Given the description of an element on the screen output the (x, y) to click on. 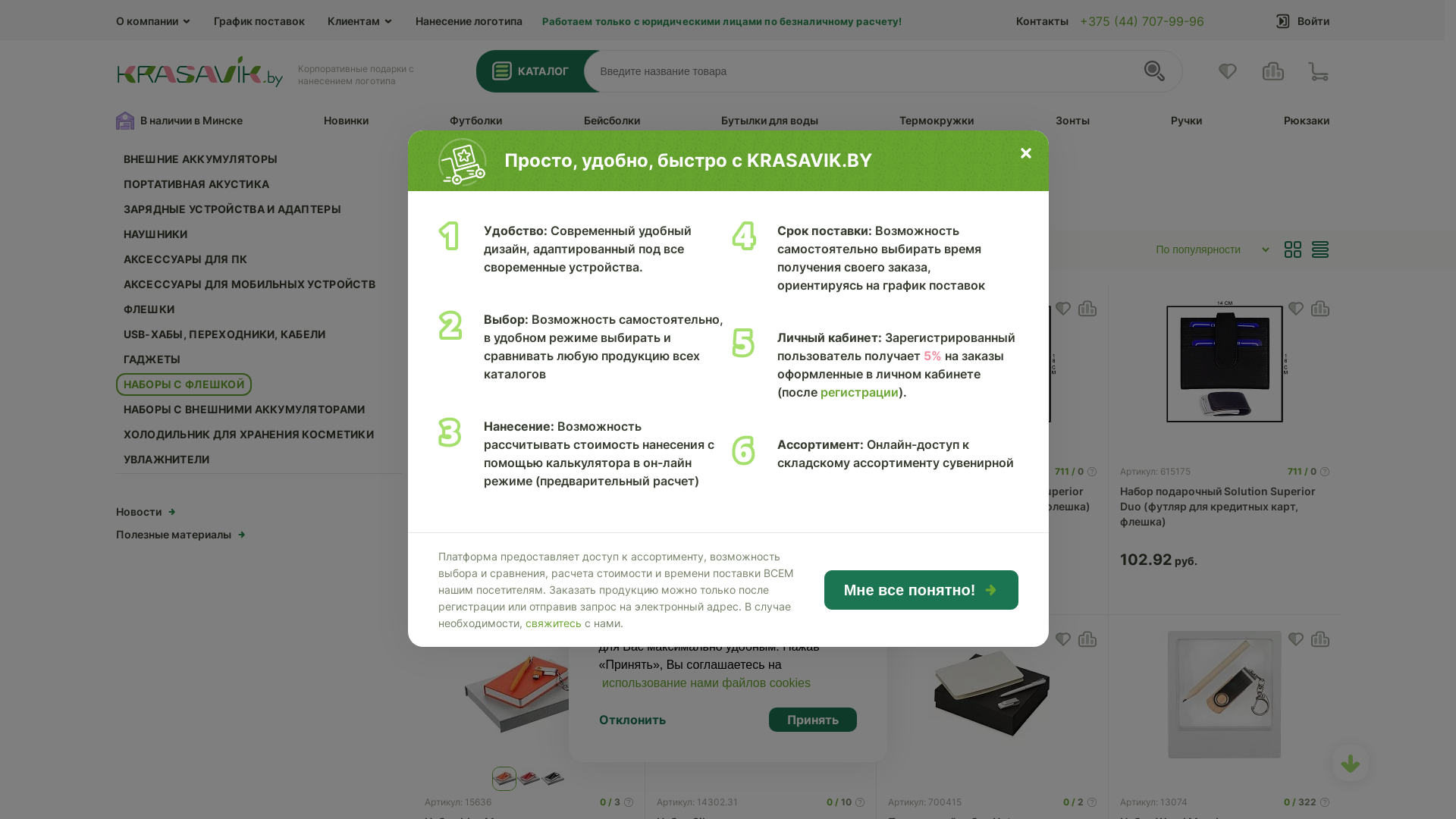
+375 (44) 707-99-96 Element type: text (1141, 20)
